Given the description of an element on the screen output the (x, y) to click on. 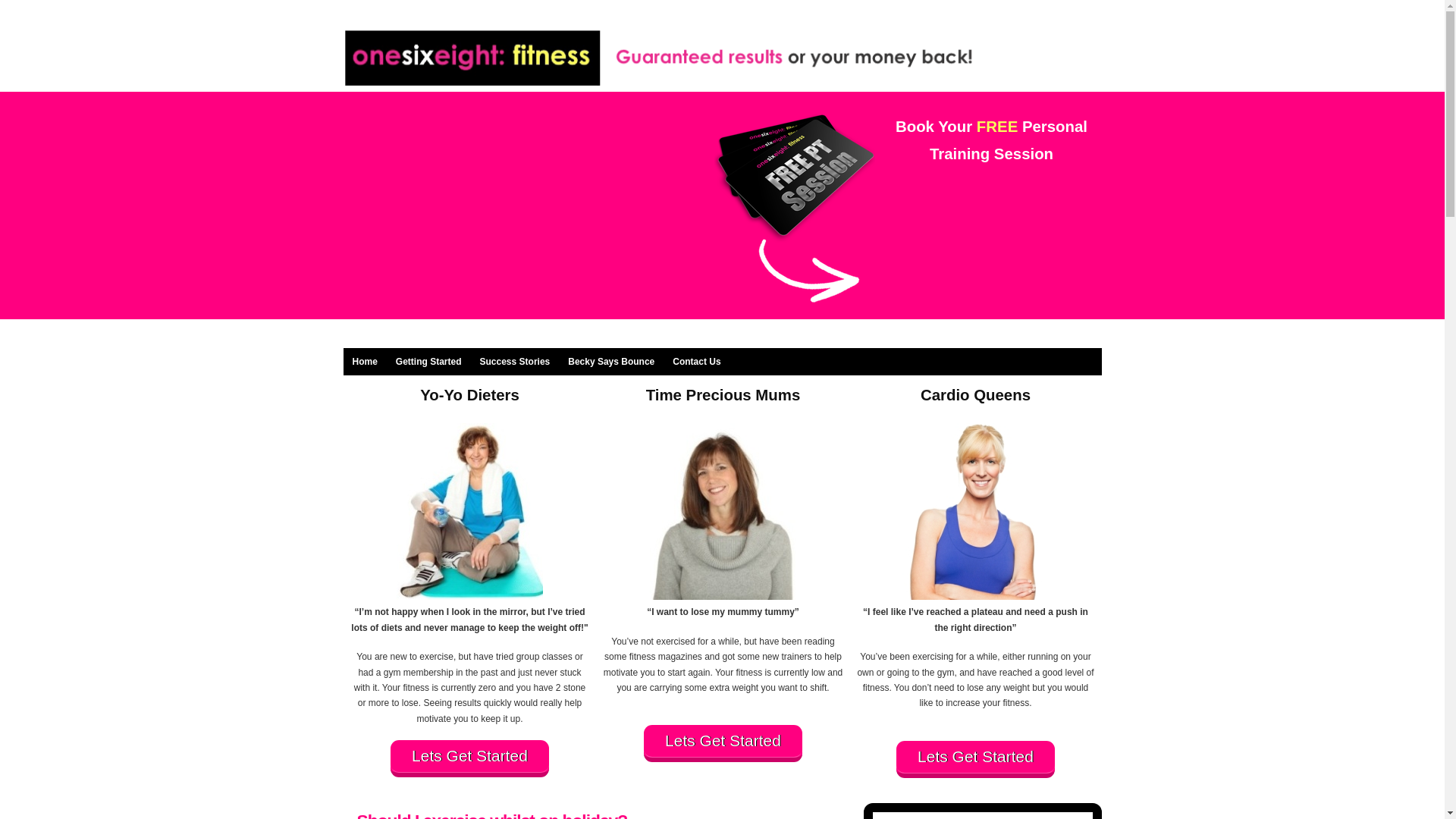
Lets Get Started (975, 759)
Getting Started (428, 361)
Home (363, 361)
Contact Us (696, 361)
Becky Says Bounce (611, 361)
Success Stories (514, 361)
Lets Get Started (722, 743)
Lets Get Started (469, 758)
